Given the description of an element on the screen output the (x, y) to click on. 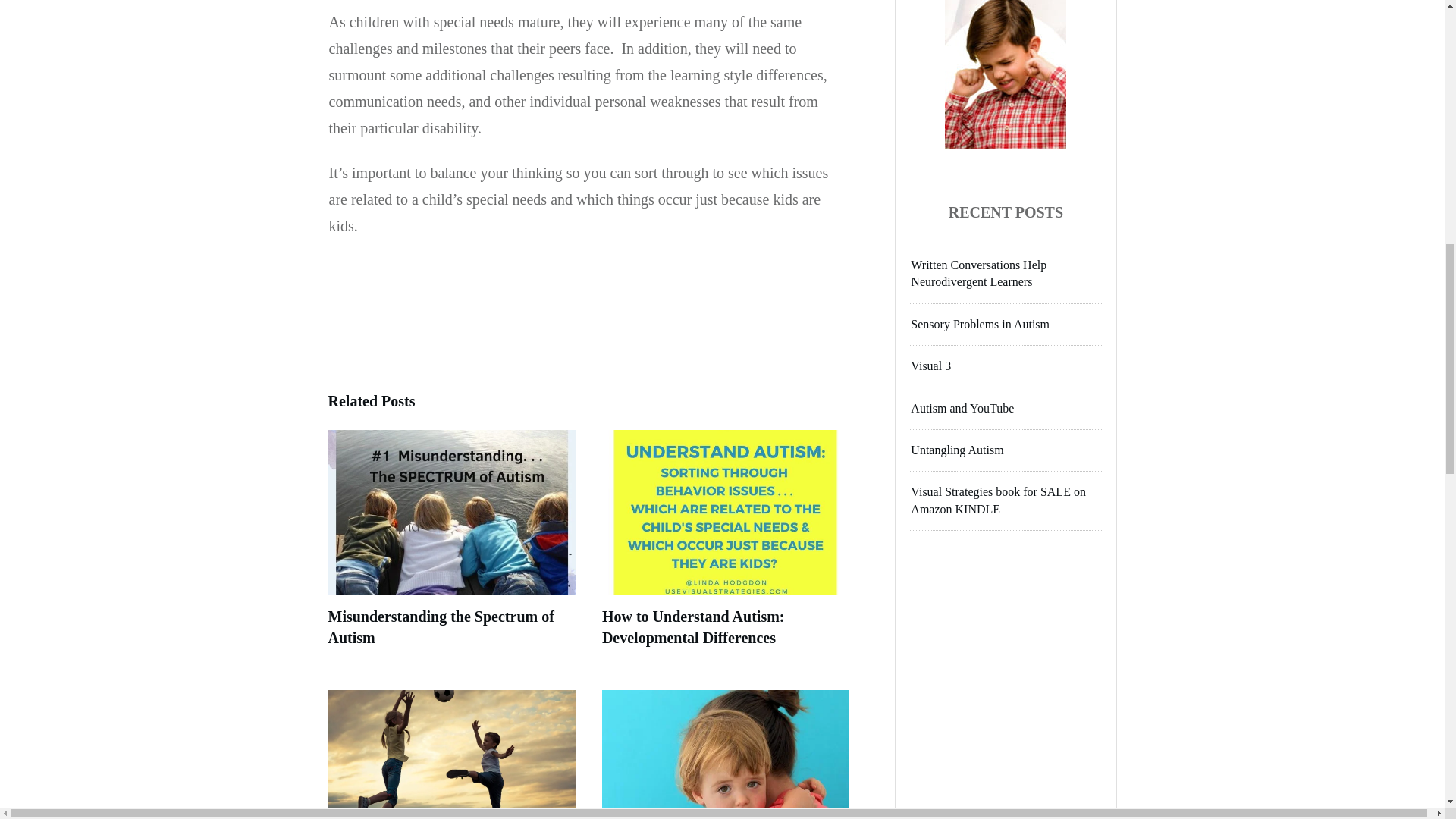
Written Conversations Help Neurodivergent Learners (978, 273)
Untangling Autism (957, 449)
Visual 3 (930, 365)
Written Conversations Help Neurodivergent Learners (978, 273)
How to Understand Autism: Developmental Differences (693, 627)
Visual 3 (930, 365)
Autism and YouTube (962, 408)
Sensory Problems in Autism (980, 323)
Misunderstanding the Spectrum of Autism (440, 627)
Misunderstanding the Spectrum of Autism (440, 627)
Untangling Autism (957, 449)
Visual Strategies book for SALE on Amazon KINDLE (998, 500)
How to Understand Autism: Developmental Differences (693, 627)
Autism and YouTube (962, 408)
Visual Strategies book for SALE on Amazon KINDLE (998, 500)
